Given the description of an element on the screen output the (x, y) to click on. 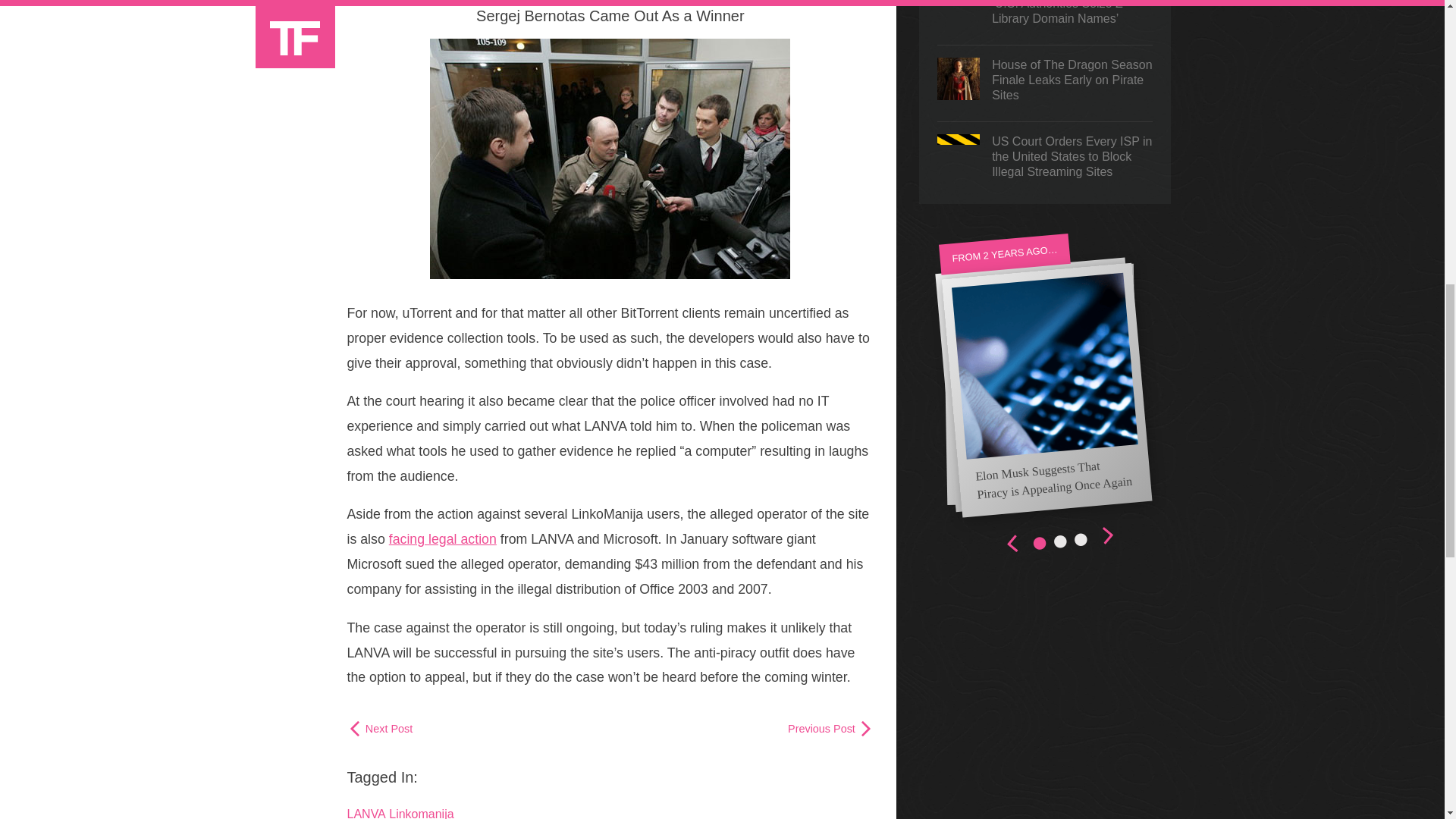
Previous Post (830, 728)
Linkomanija (420, 813)
Next Post (380, 728)
LANVA (366, 813)
facing legal action (442, 539)
